Given the description of an element on the screen output the (x, y) to click on. 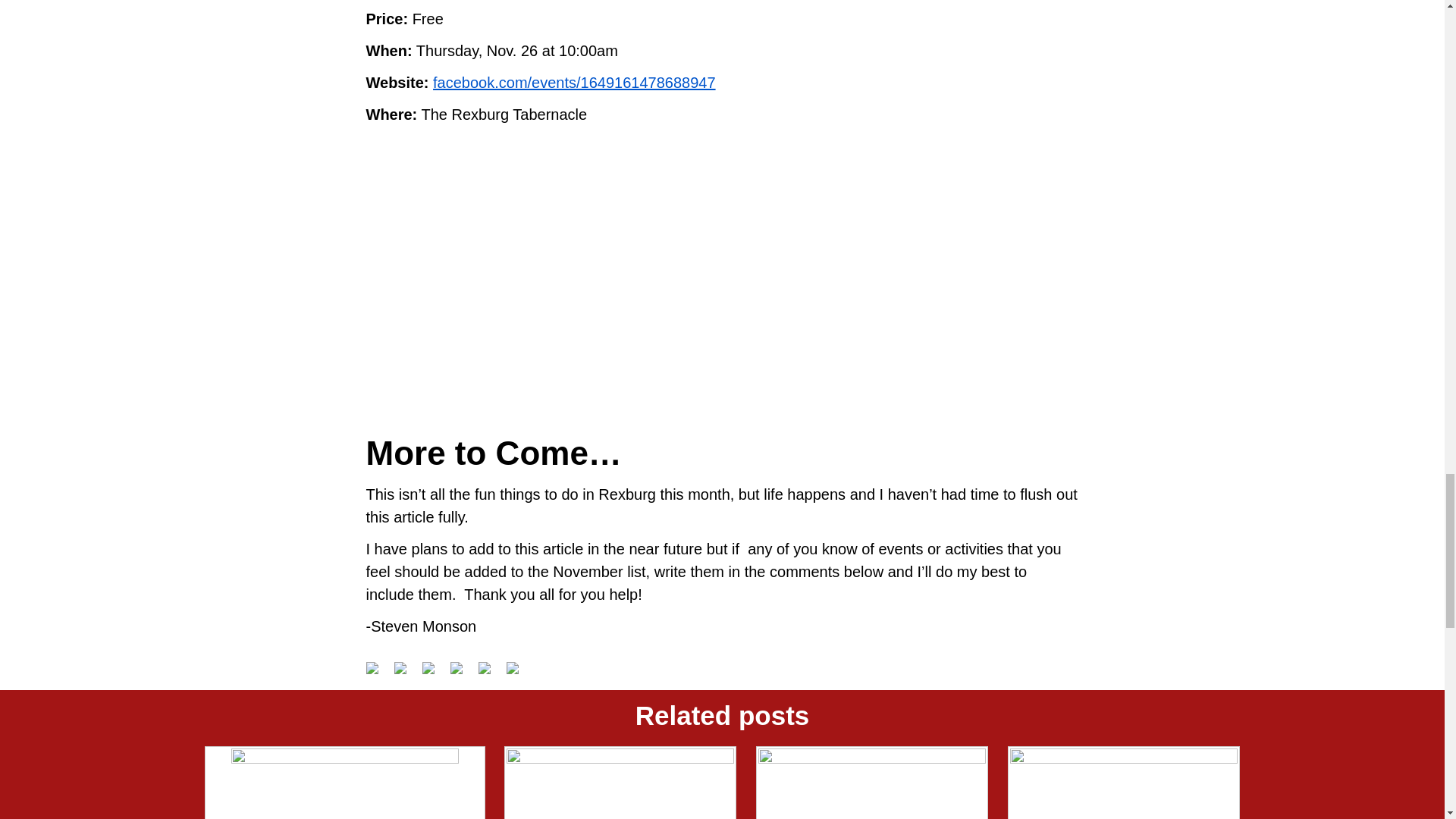
Share on Linkedin (489, 673)
Share on Twitter (406, 673)
Eagle Park Campground (1124, 782)
Share on Facebook (377, 673)
Legacy Flight Museum (872, 782)
Share on Reddit (433, 673)
Pin it with Pinterest (461, 673)
Pin it with Pinterest (456, 667)
Share on Reddit (427, 667)
Share on Facebook (371, 667)
